Given the description of an element on the screen output the (x, y) to click on. 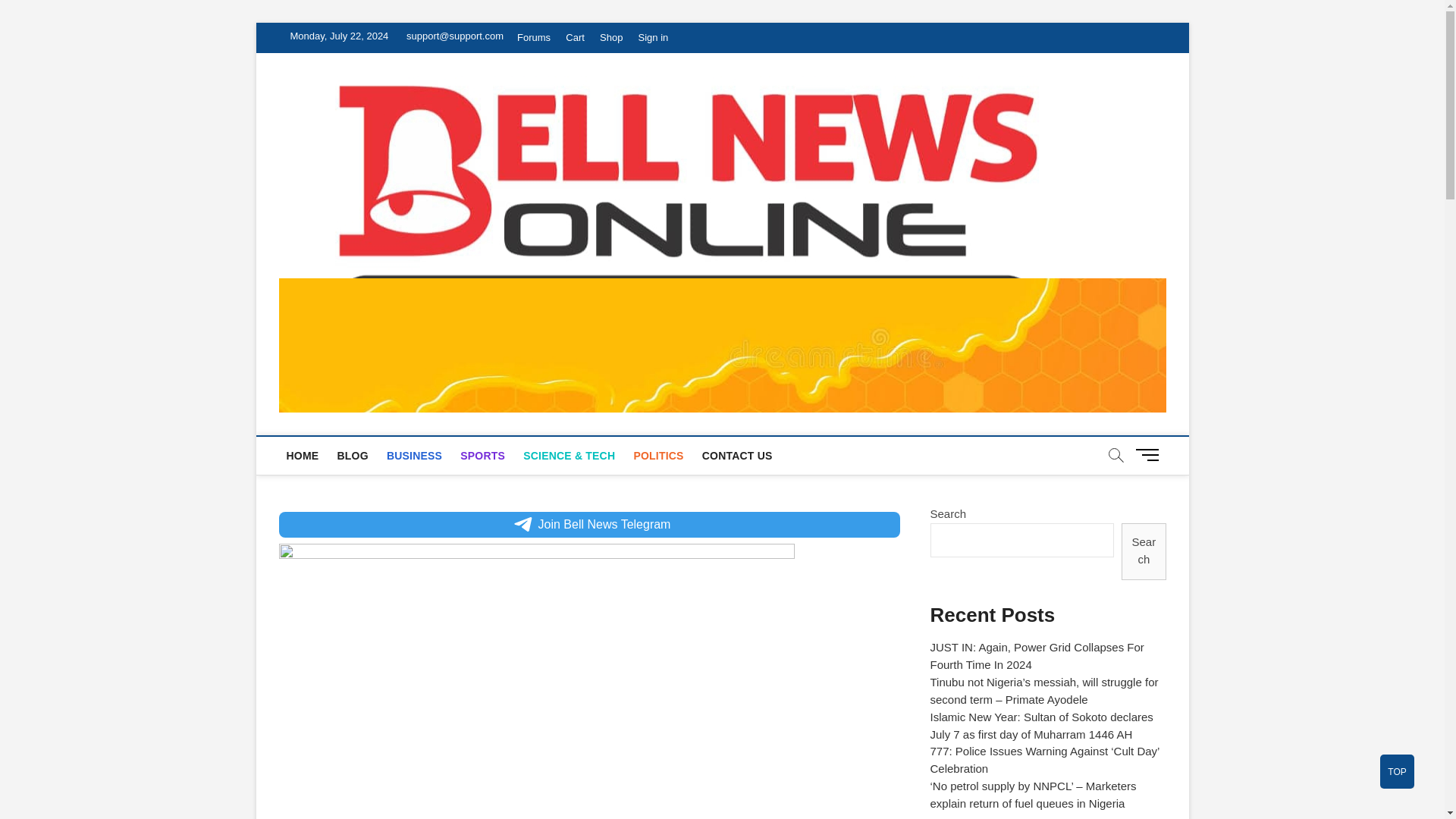
Bell News (1137, 119)
Mail Us (450, 35)
BUSINESS (413, 455)
Cart (575, 37)
Forums (533, 37)
CONTACT US (737, 455)
Bell News (1137, 119)
SPORTS (482, 455)
POLITICS (658, 455)
Menu Button (1150, 454)
Shop (611, 37)
HOME (302, 455)
BLOG (352, 455)
Sign in (653, 37)
